Given the description of an element on the screen output the (x, y) to click on. 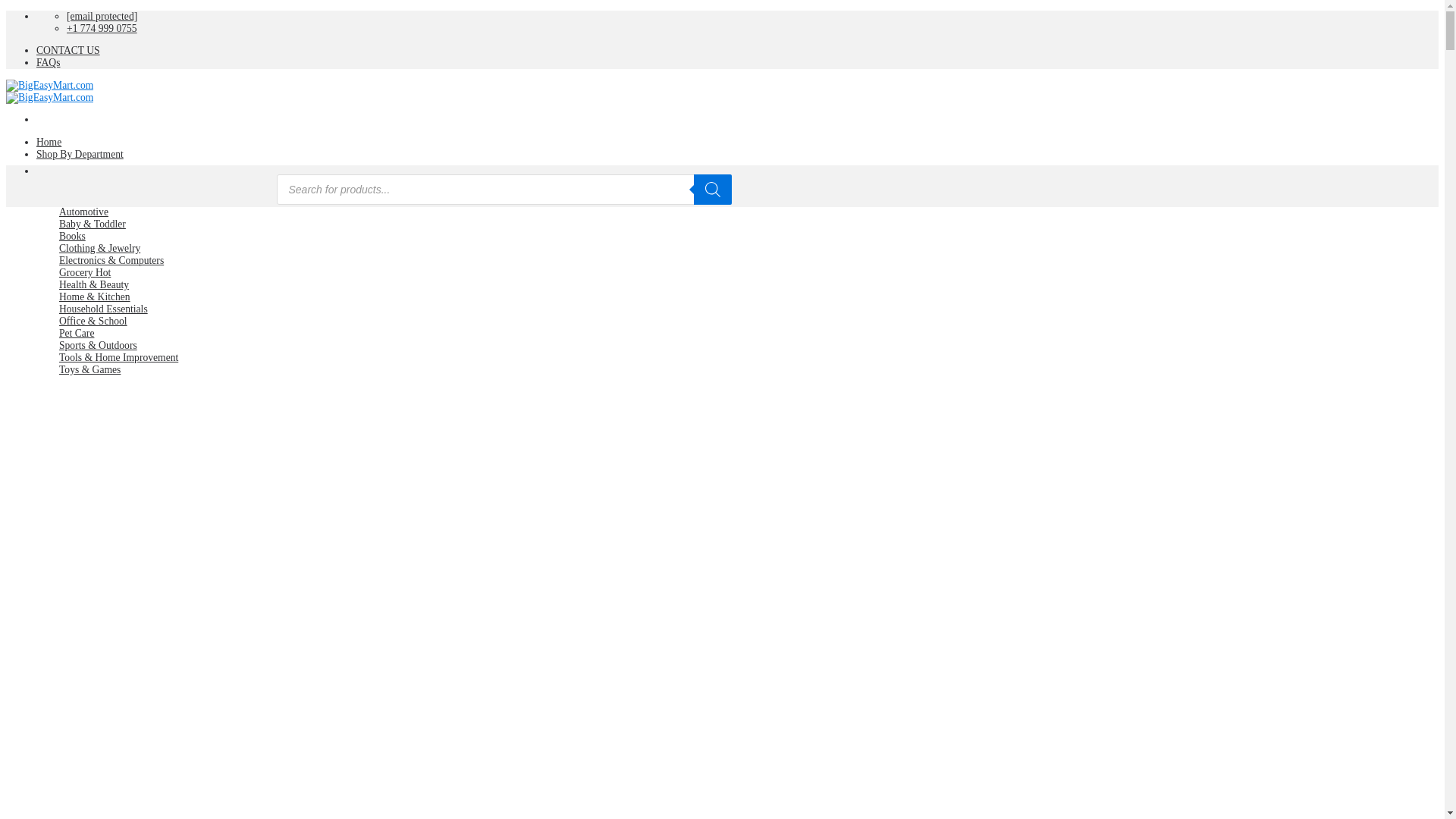
Household Essentials (103, 308)
Automotive (83, 211)
CONTACT US (68, 50)
Home (48, 142)
Grocery (84, 272)
Shop By Department (79, 153)
Pet Care (76, 333)
FAQs (47, 61)
wsf5u94ohiqdsnop8mfz.jpg (229, 713)
